Given the description of an element on the screen output the (x, y) to click on. 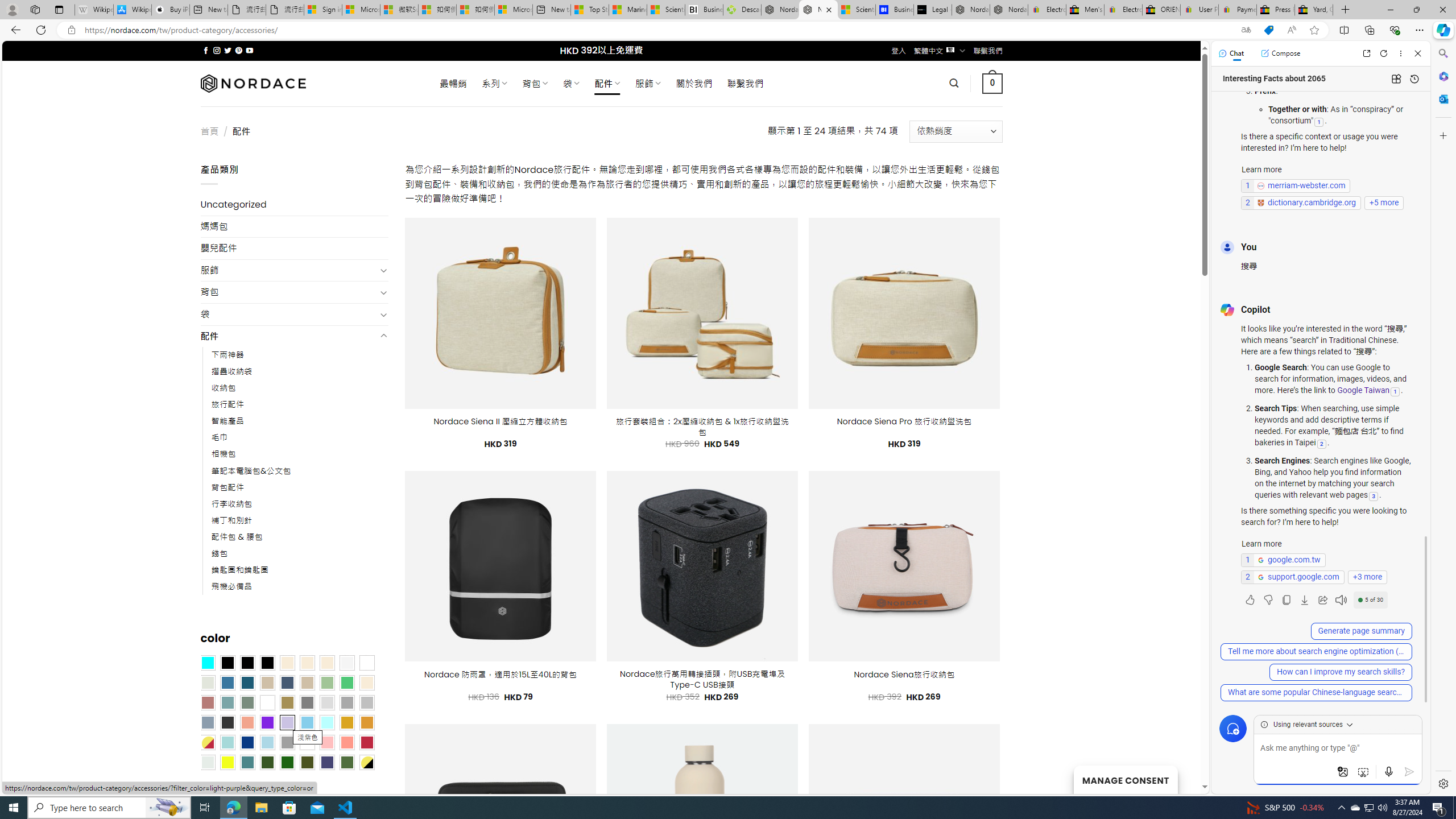
Descarga Driver Updater (741, 9)
Follow on YouTube (249, 50)
